Given the description of an element on the screen output the (x, y) to click on. 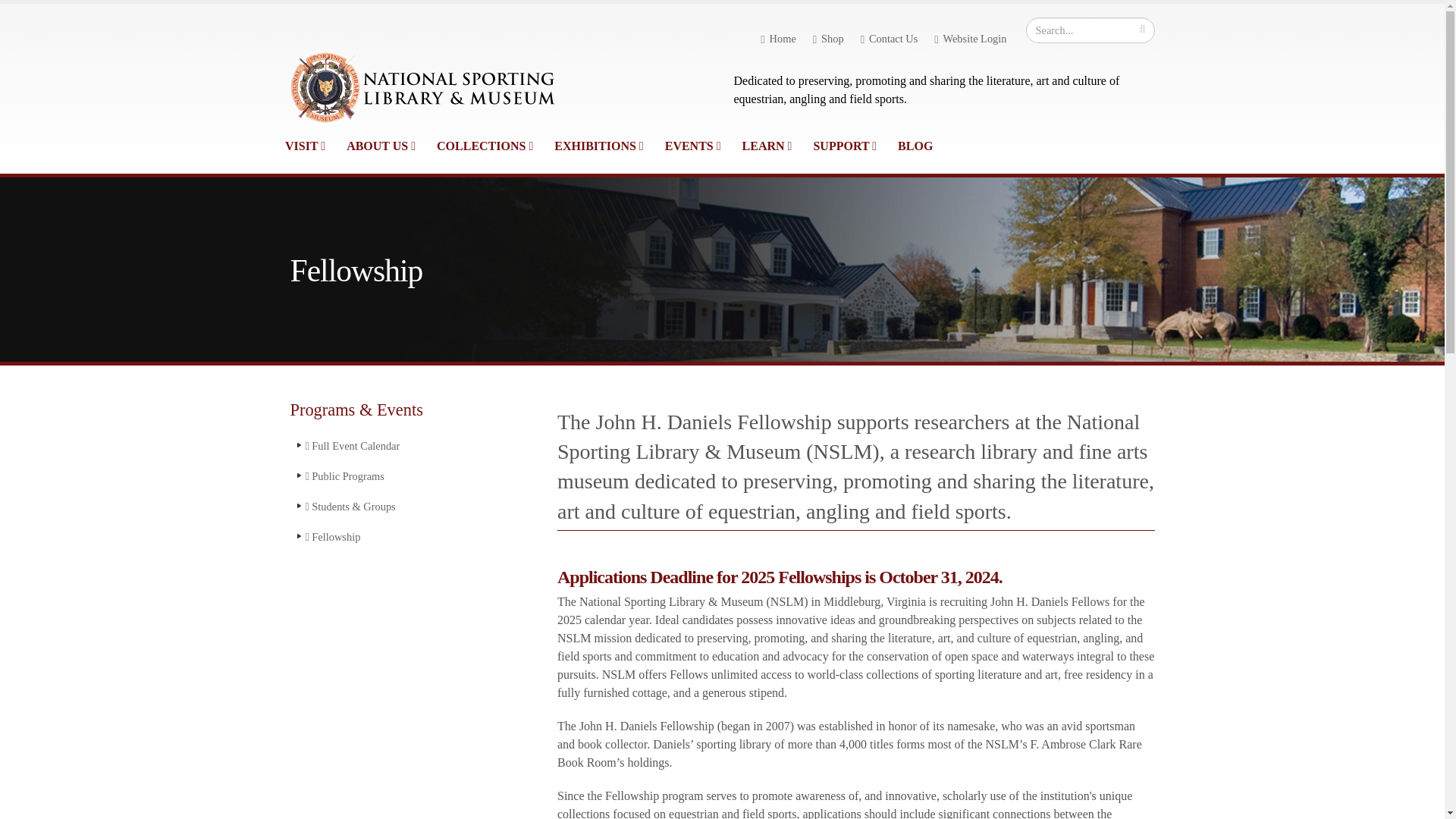
Website Login (969, 38)
Home (777, 38)
Shop (828, 38)
Contact Us (889, 38)
ABOUT US (380, 146)
VISIT (304, 146)
LEARN (767, 146)
COLLECTIONS (484, 146)
EXHIBITIONS (598, 146)
EVENTS (692, 146)
